Given the description of an element on the screen output the (x, y) to click on. 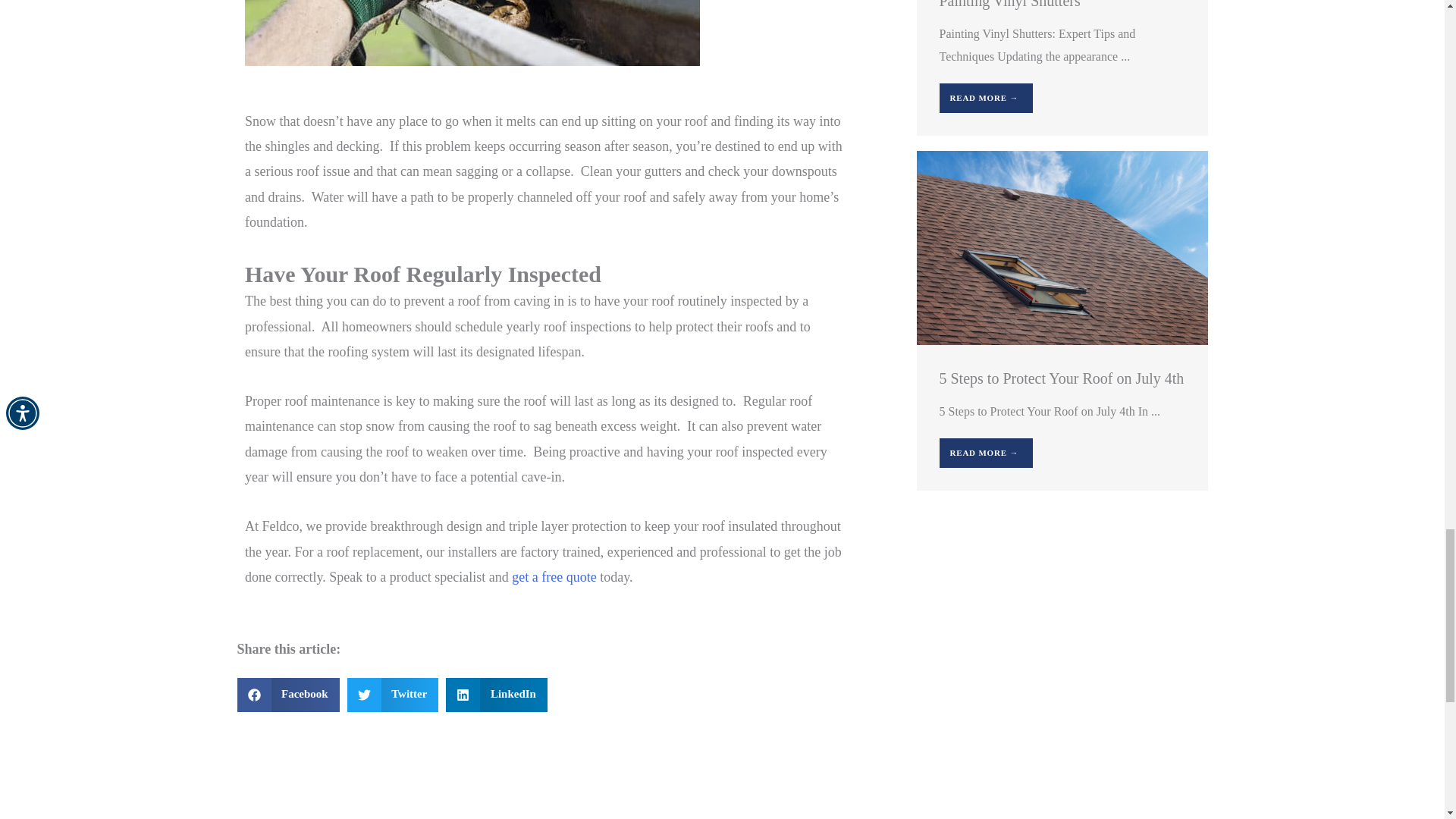
5 Steps to Protect Your Roof on July 4th (1061, 246)
